Given the description of an element on the screen output the (x, y) to click on. 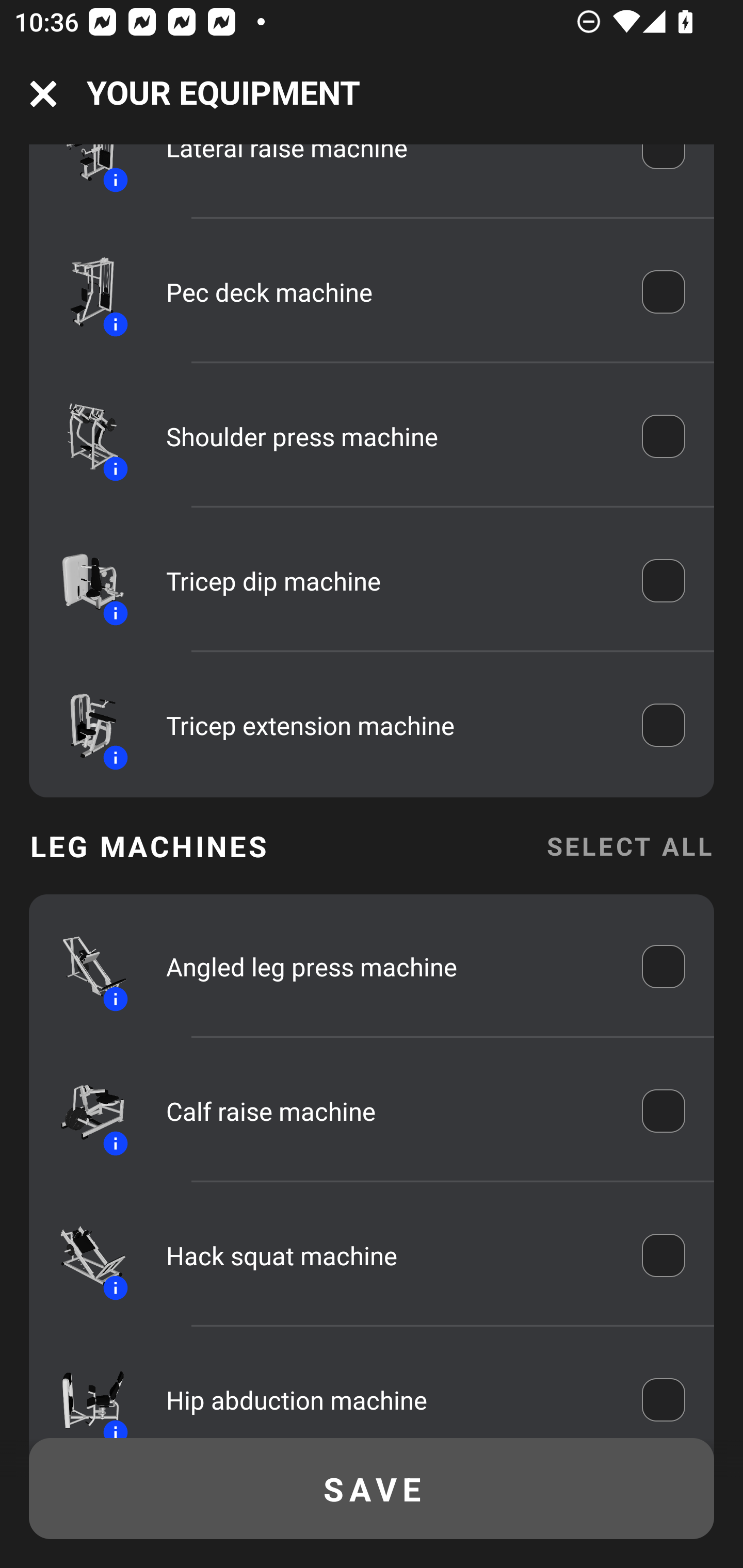
Navigation icon (43, 93)
Equipment icon Information icon (82, 173)
Lateral raise machine (389, 167)
Equipment icon Information icon (82, 292)
Pec deck machine (389, 292)
Equipment icon Information icon (82, 436)
Shoulder press machine (389, 436)
Equipment icon Information icon (82, 580)
Tricep dip machine (389, 580)
Equipment icon Information icon (82, 725)
Tricep extension machine (389, 725)
SELECT ALL (629, 845)
Equipment icon Information icon (82, 966)
Angled leg press machine (389, 966)
Equipment icon Information icon (82, 1110)
Calf raise machine (389, 1110)
Equipment icon Information icon (82, 1255)
Hack squat machine (389, 1255)
Equipment icon Information icon (82, 1391)
Hip abduction machine (389, 1396)
SAVE (371, 1488)
